Given the description of an element on the screen output the (x, y) to click on. 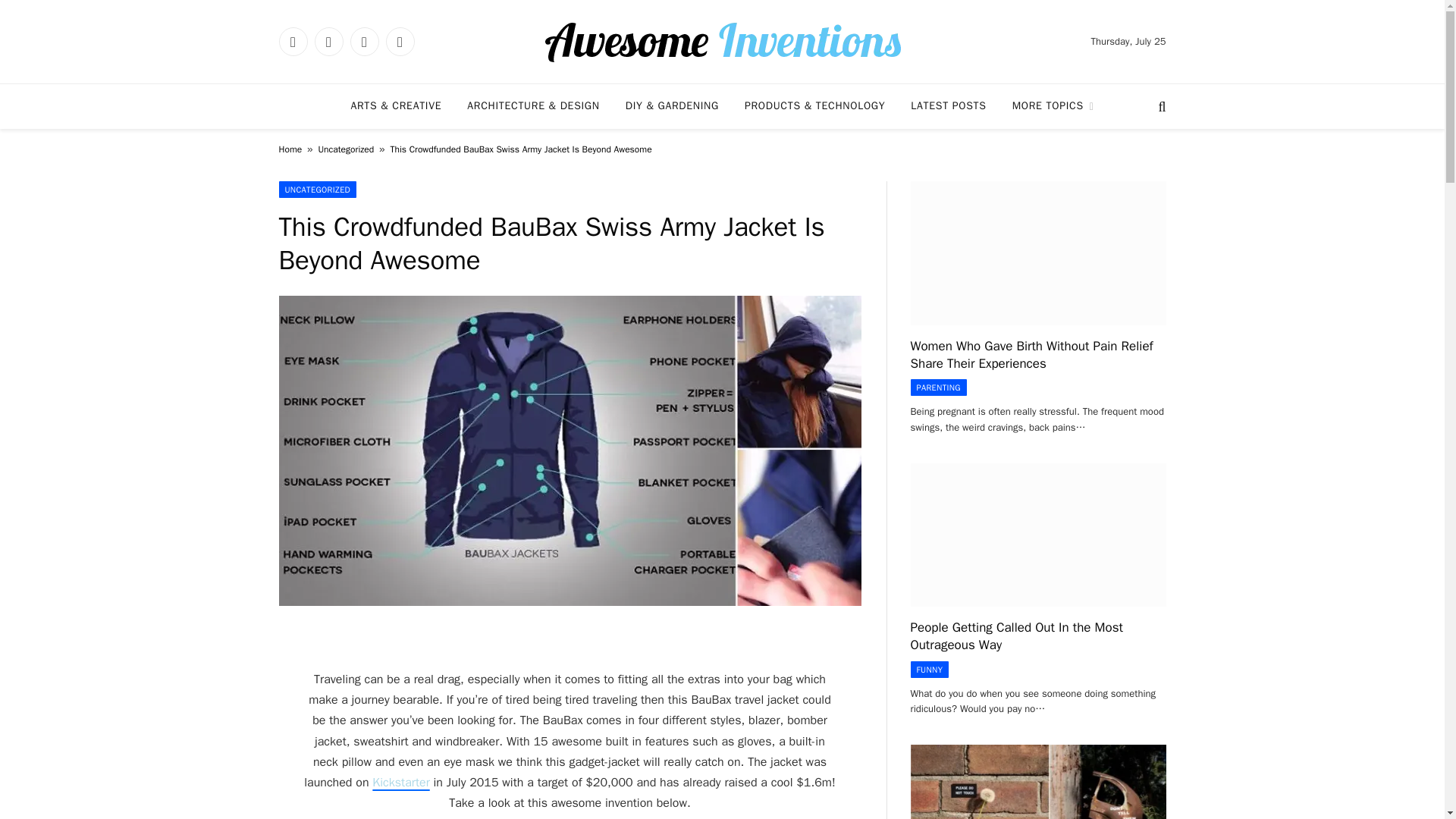
Instagram (364, 41)
UNCATEGORIZED (317, 189)
Pinterest (399, 41)
Latest Posts (948, 106)
Home (290, 149)
LATEST POSTS (948, 106)
Uncategorized (345, 149)
Facebook (293, 41)
Awesome Inventions (721, 41)
Kickstarter (400, 782)
MORE TOPICS (1052, 106)
